Given the description of an element on the screen output the (x, y) to click on. 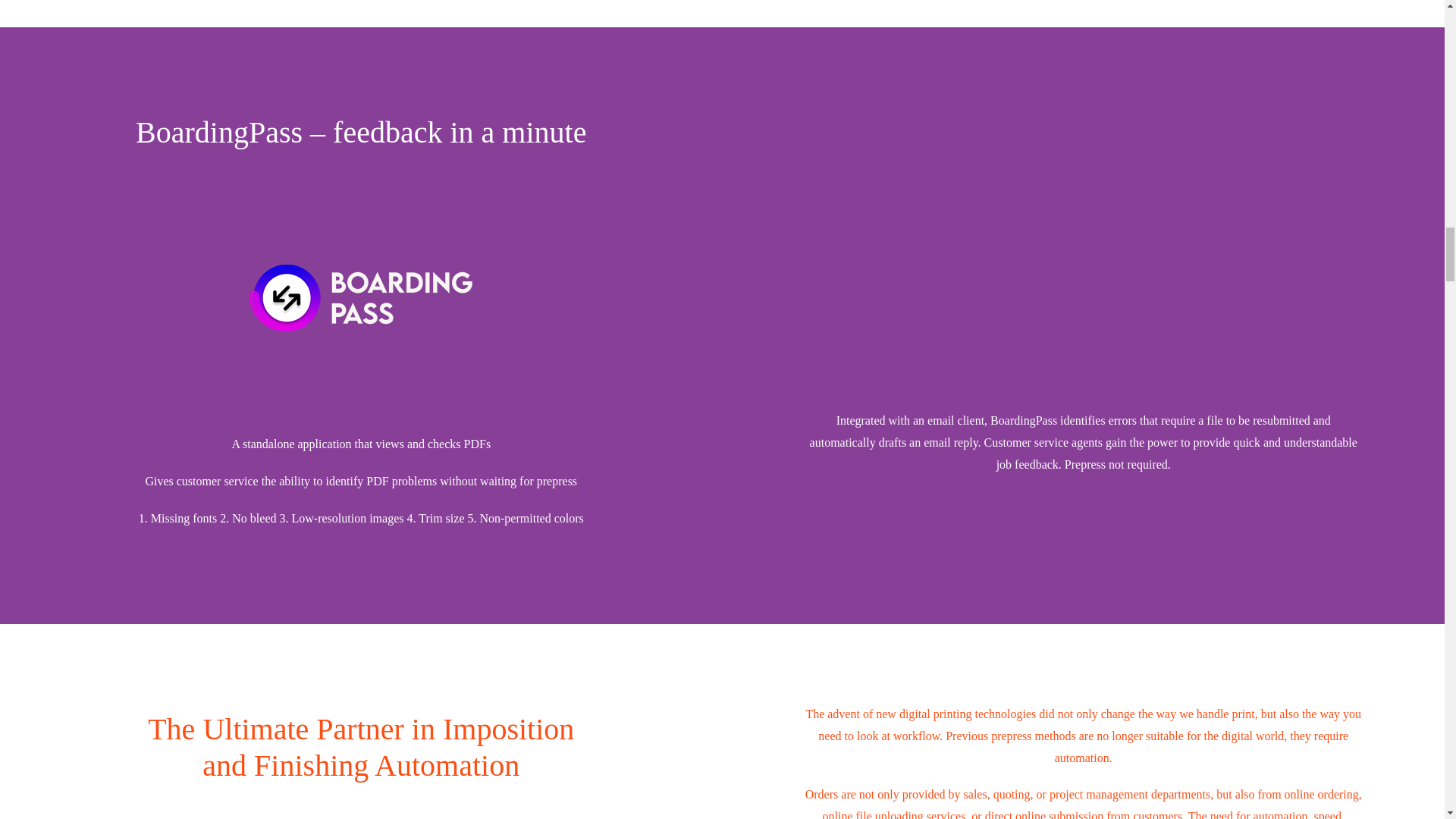
YouTube video player 2 (1029, 243)
